Given the description of an element on the screen output the (x, y) to click on. 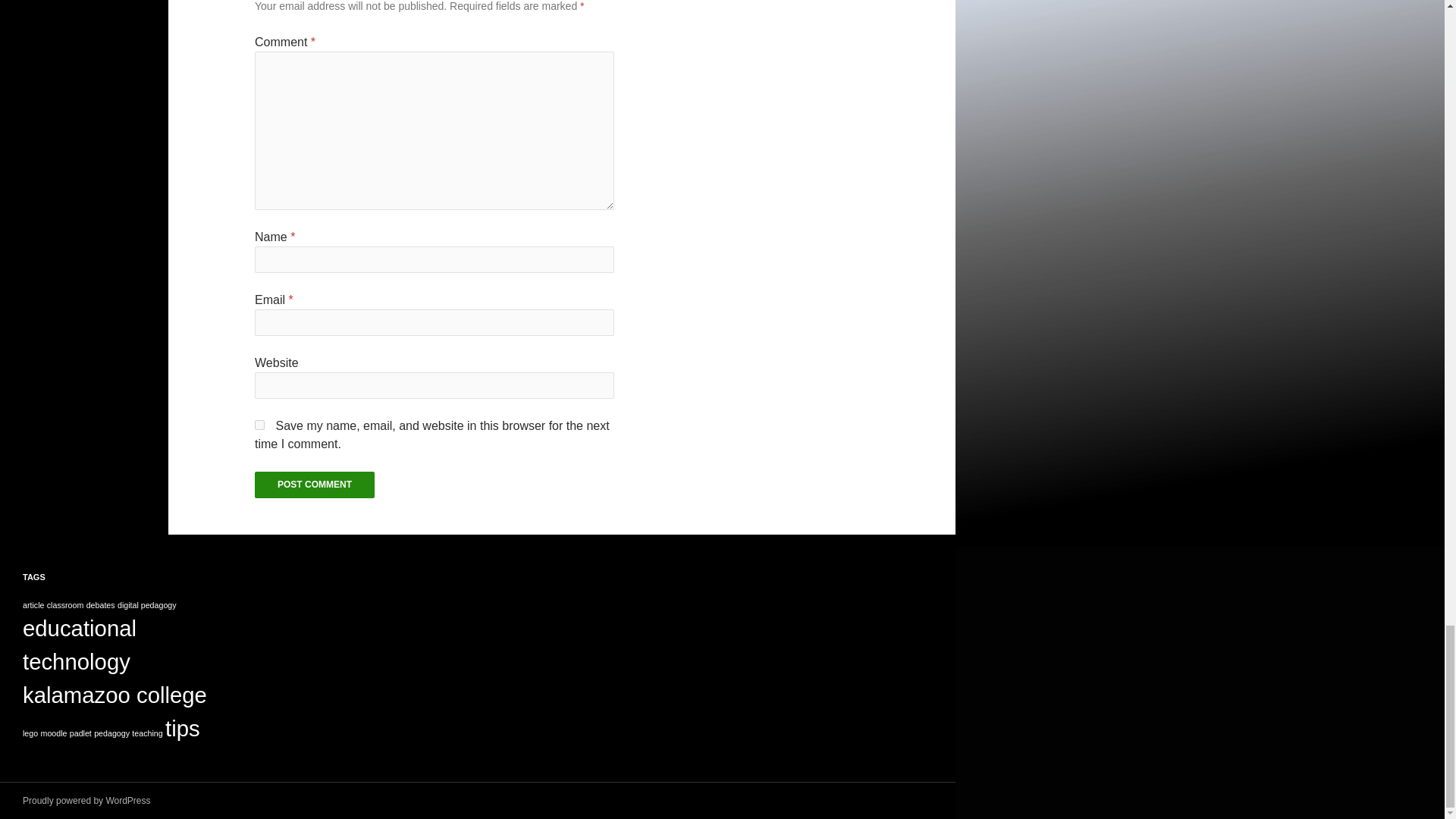
Post Comment (314, 484)
yes (259, 424)
Post Comment (314, 484)
